Given the description of an element on the screen output the (x, y) to click on. 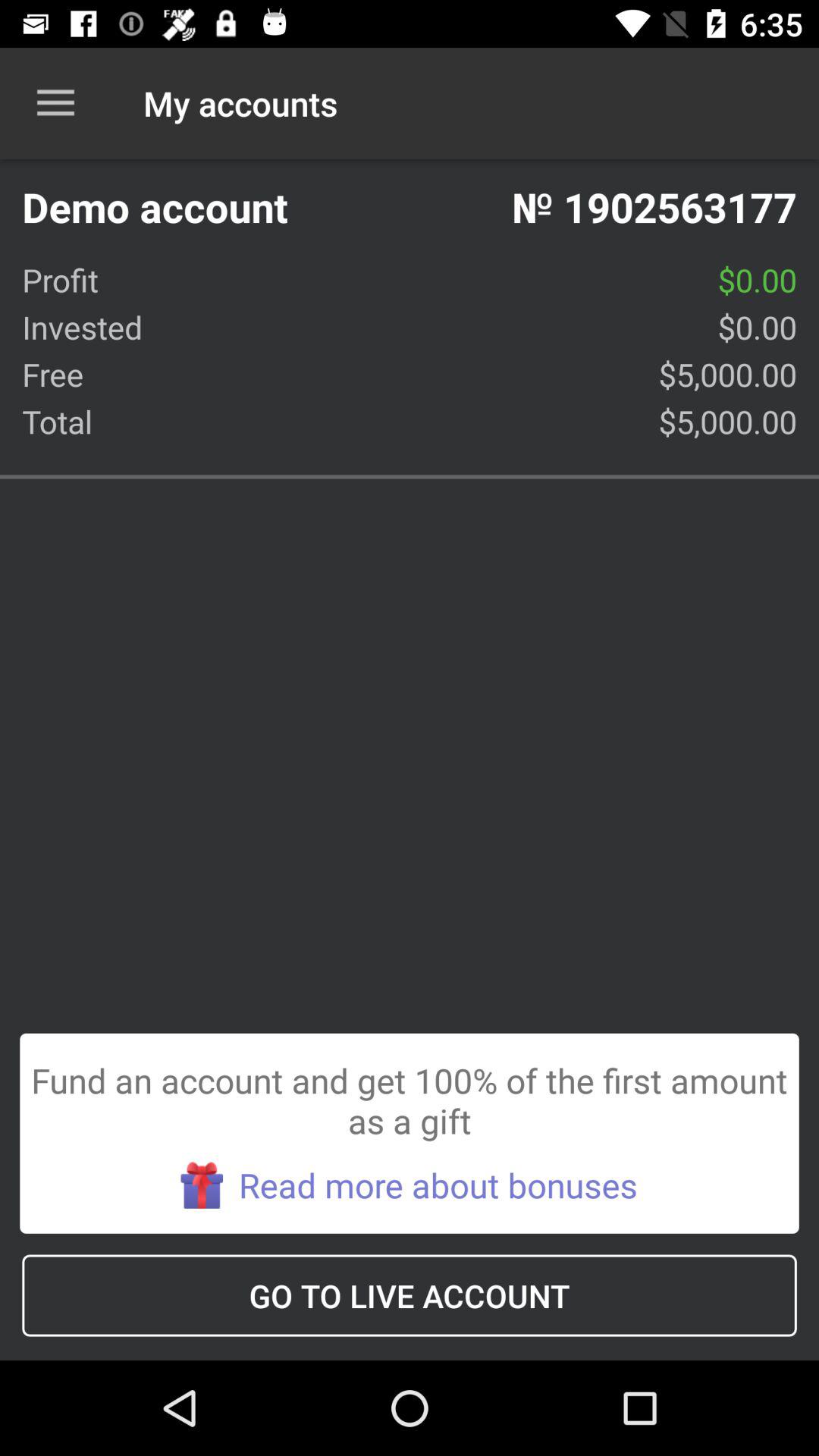
choose the icon to the left of the my accounts item (55, 103)
